Given the description of an element on the screen output the (x, y) to click on. 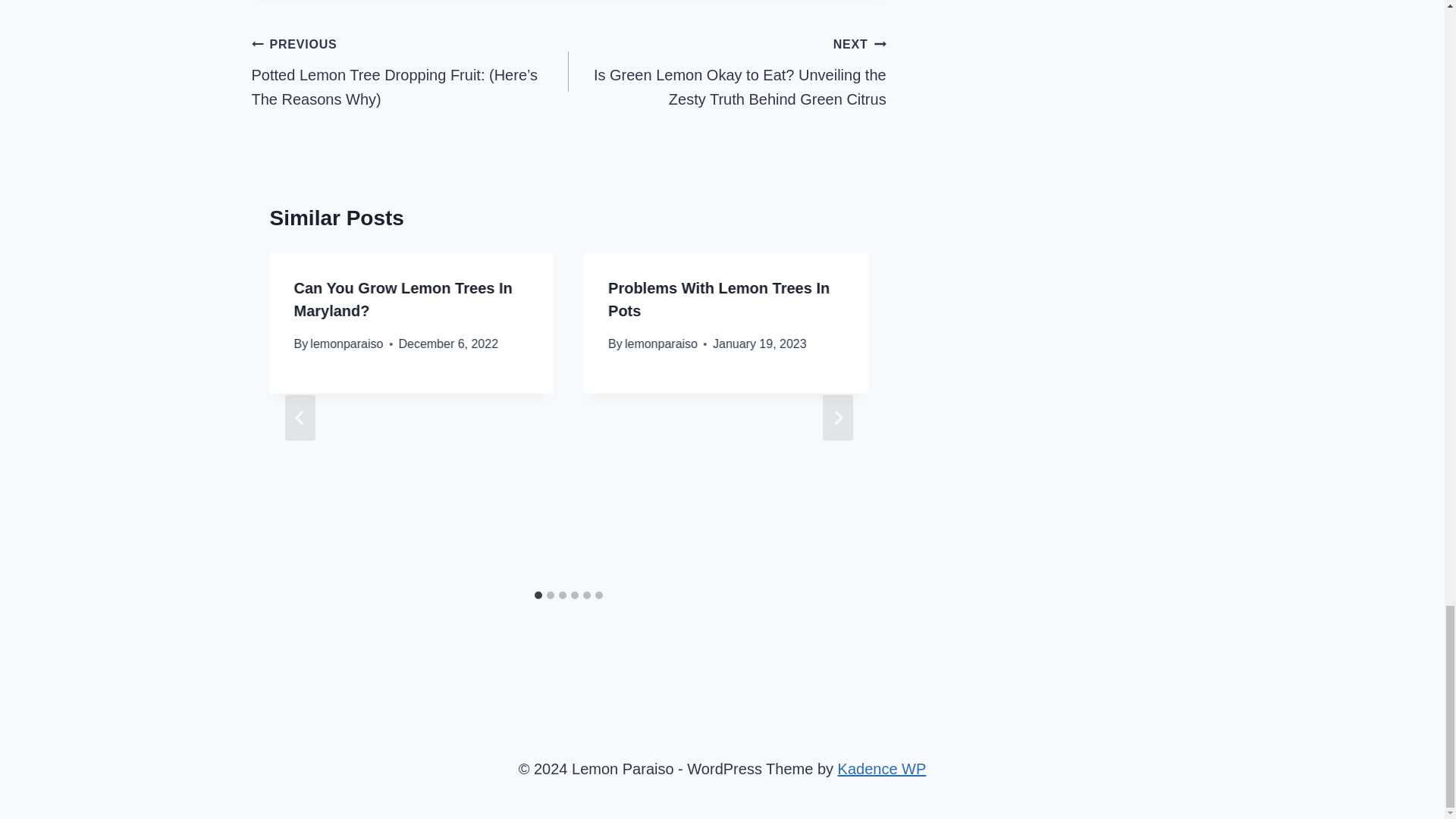
lemonparaiso (346, 343)
Can You Grow Lemon Trees In Maryland? (403, 299)
